Given the description of an element on the screen output the (x, y) to click on. 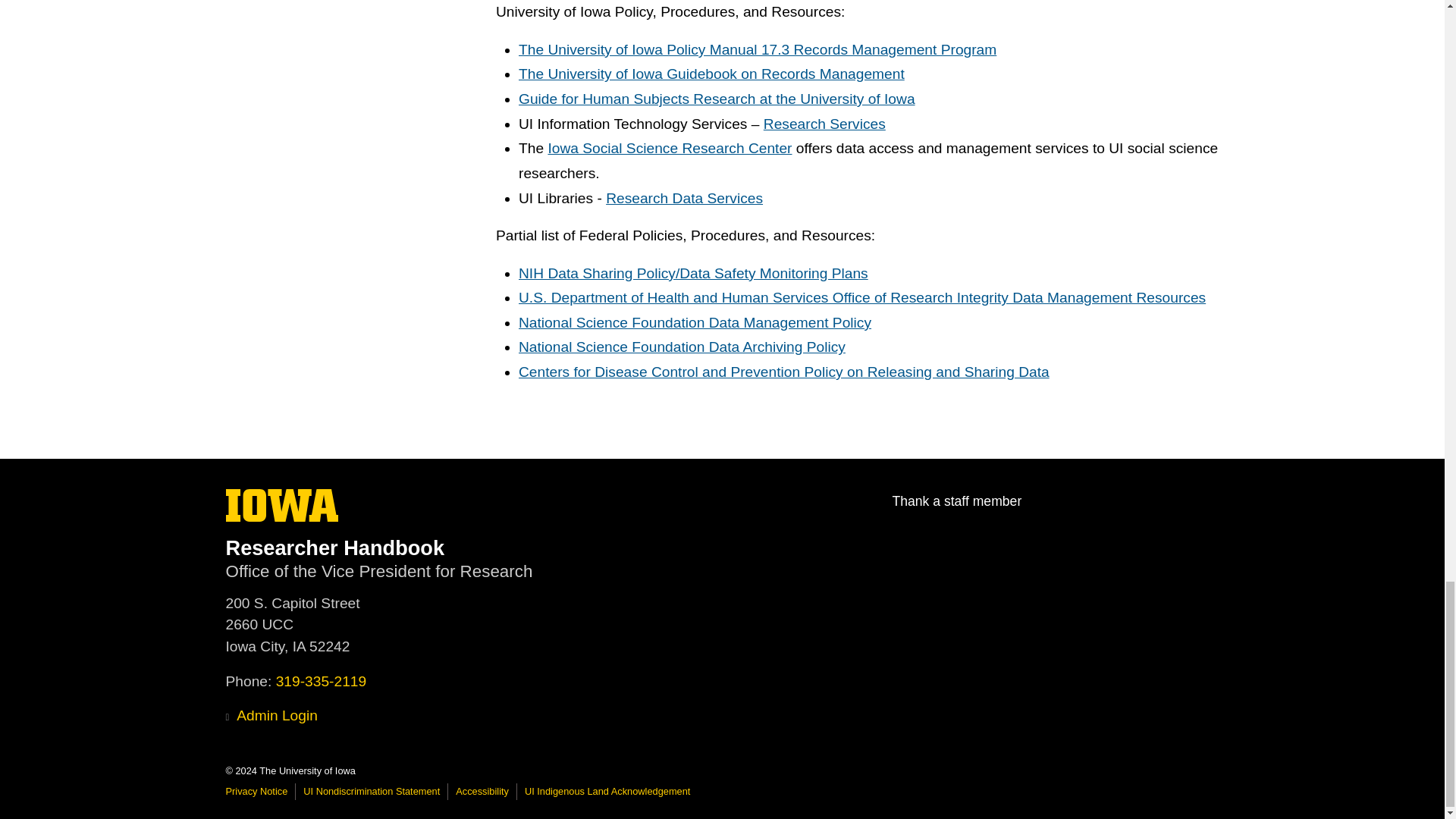
University of Iowa (282, 504)
Iowa Social Science Research Center (670, 148)
National Science Foundation Data Archiving Policy (681, 346)
